Given the description of an element on the screen output the (x, y) to click on. 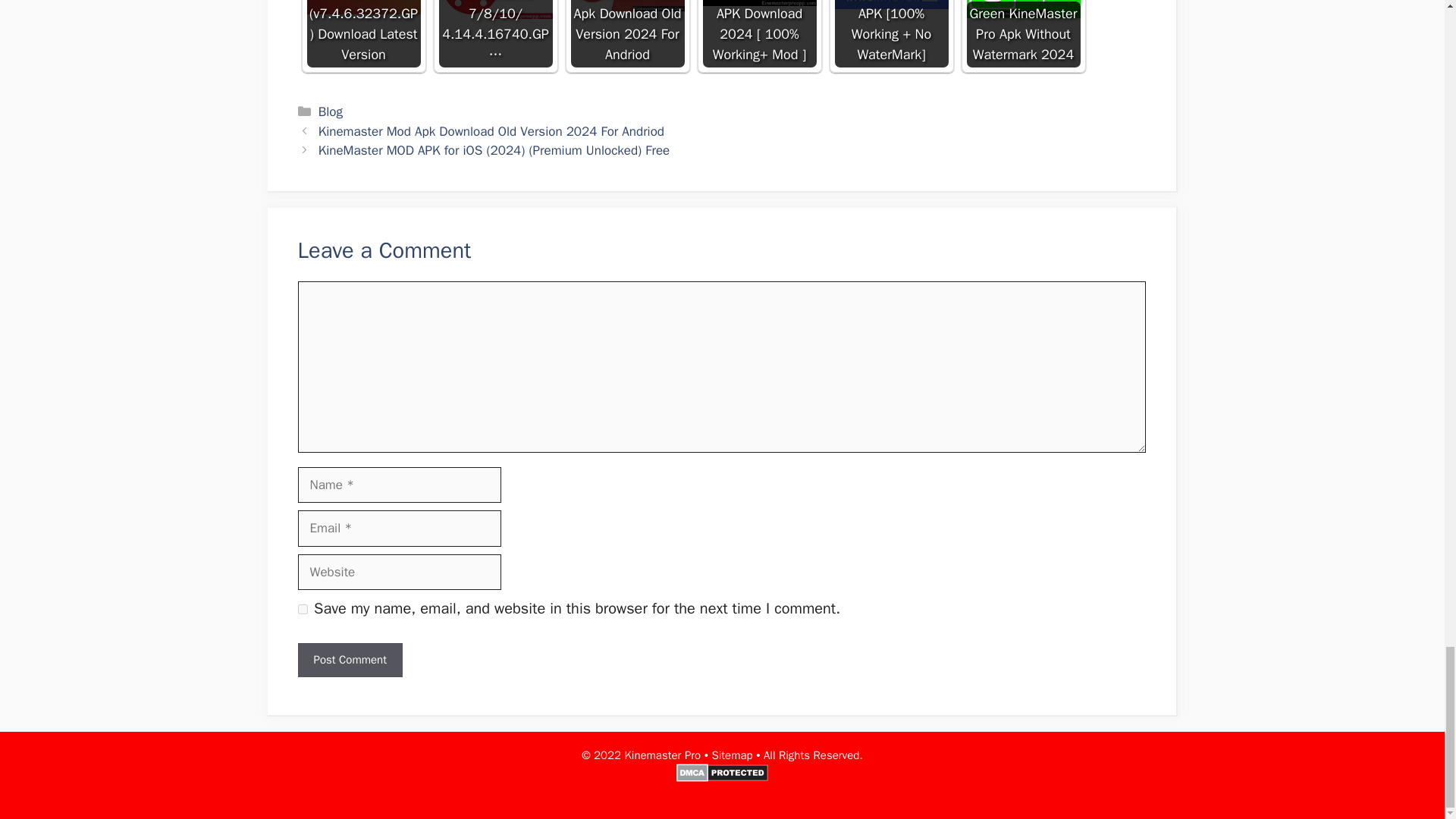
yes (302, 609)
Post Comment (349, 659)
